Given the description of an element on the screen output the (x, y) to click on. 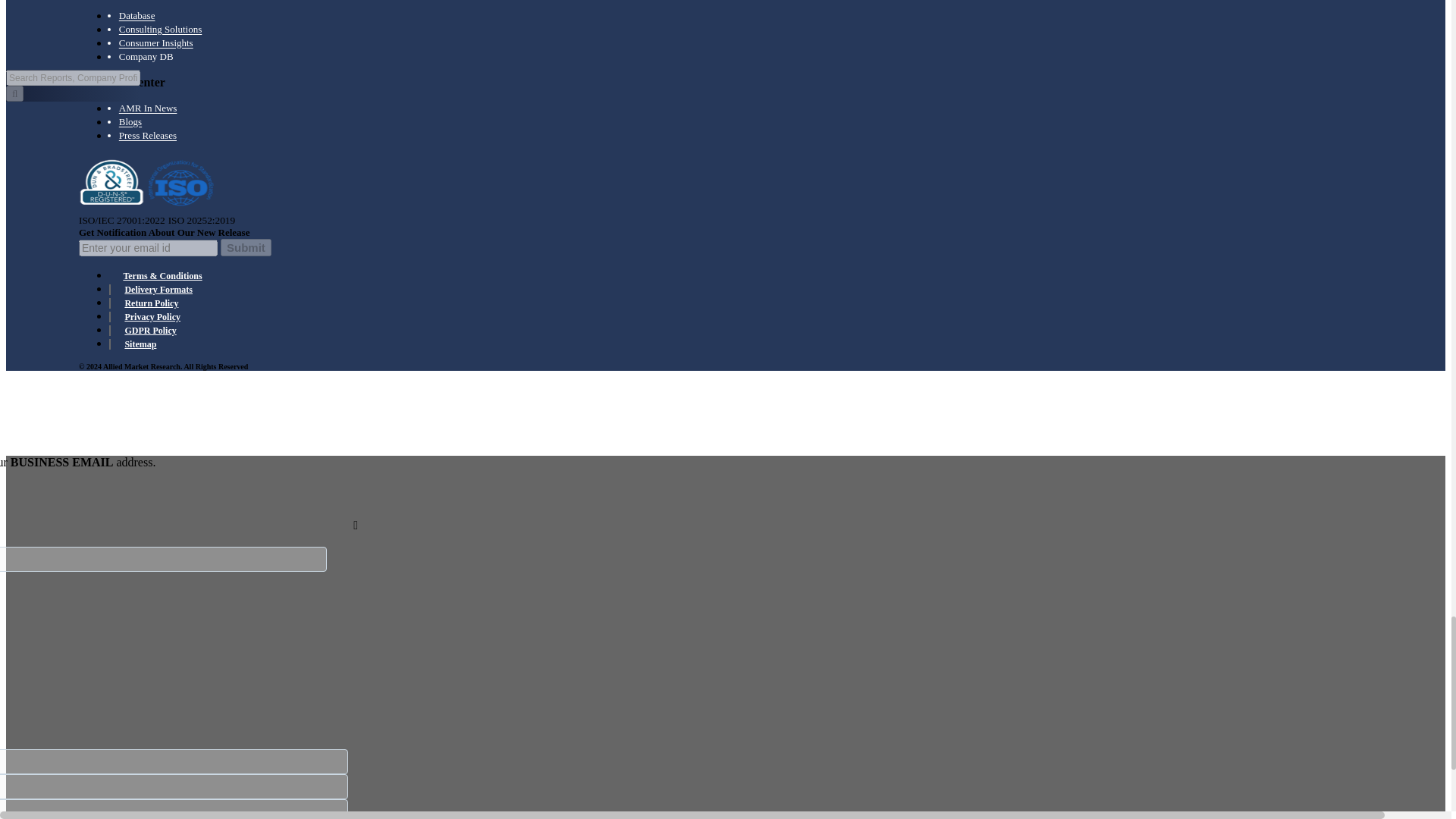
Duns and Bradstreet Registered Logo (111, 181)
